Given the description of an element on the screen output the (x, y) to click on. 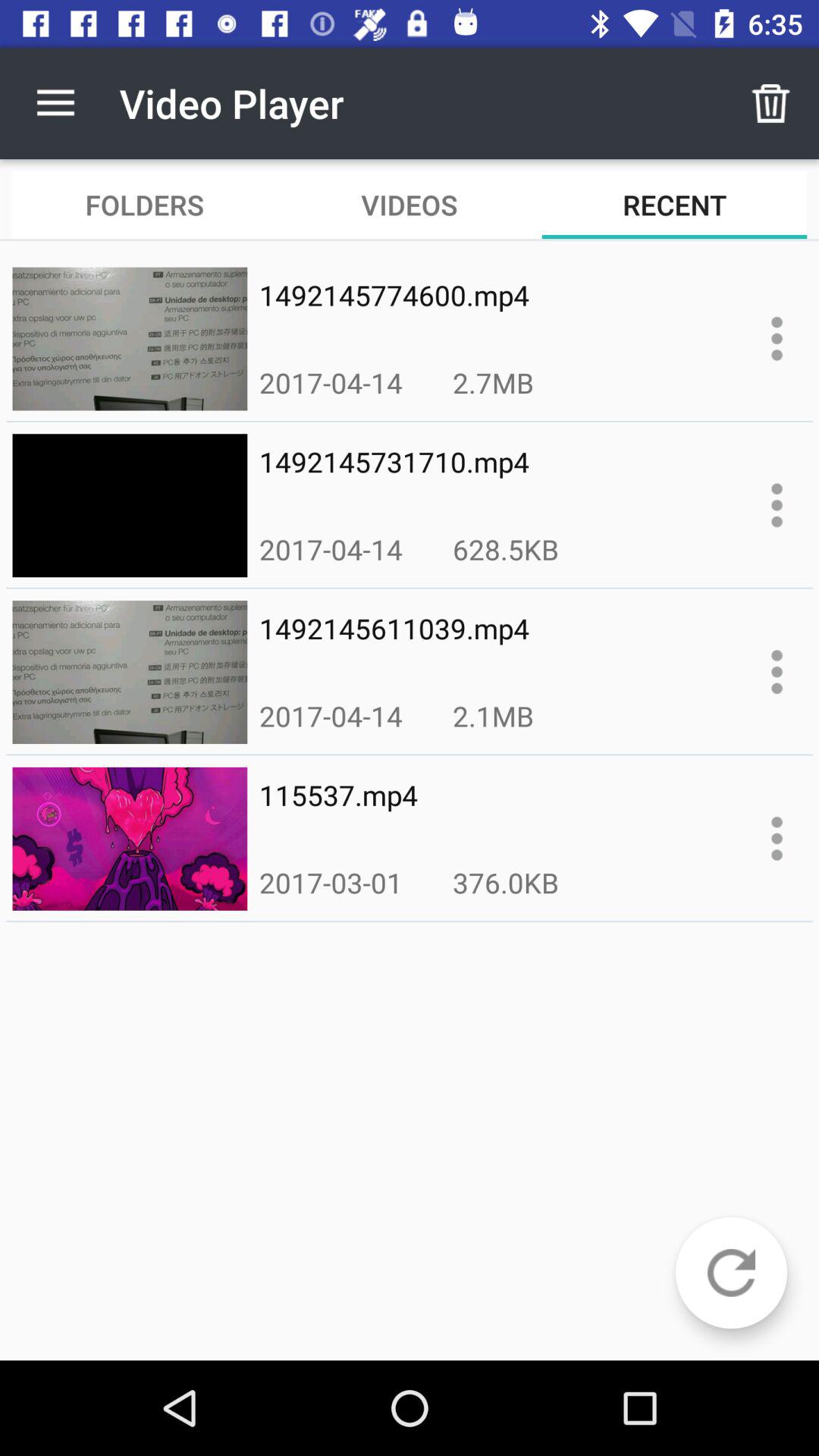
turn on item above the folders item (55, 103)
